Given the description of an element on the screen output the (x, y) to click on. 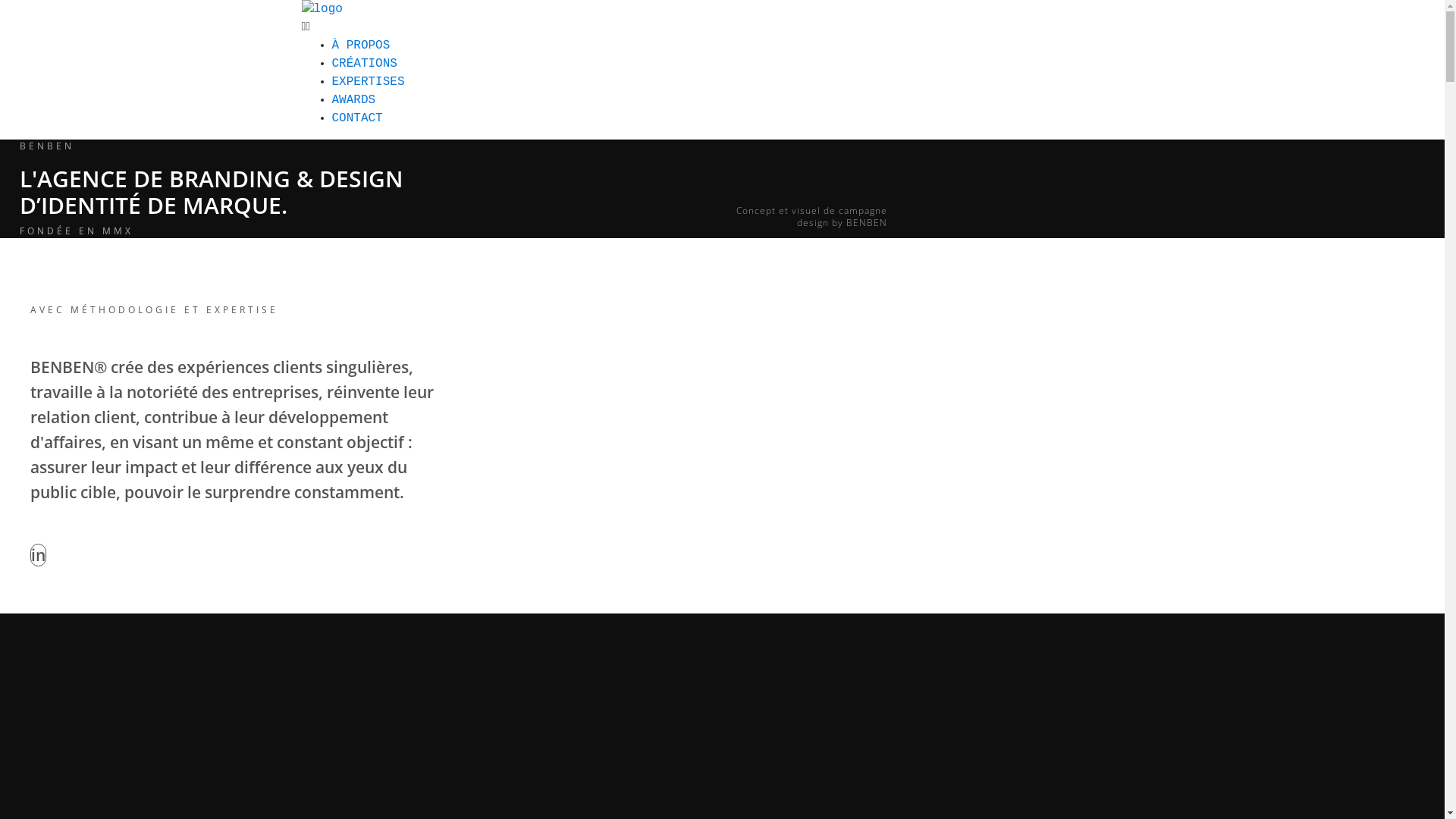
AWARDS Element type: text (354, 99)
EXPERTISES Element type: text (368, 81)
CONTACT Element type: text (357, 118)
in Element type: text (38, 554)
